Given the description of an element on the screen output the (x, y) to click on. 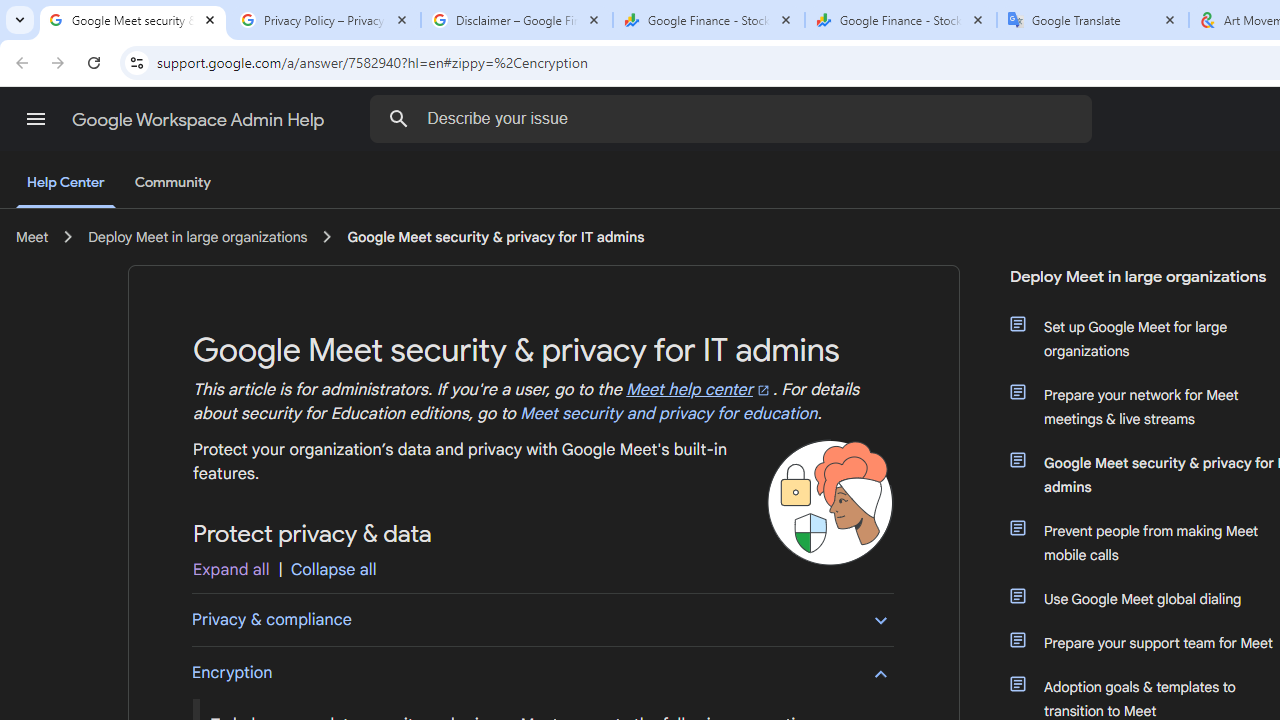
Meet help center (699, 390)
Community (171, 183)
Deploy Meet in large organizations (198, 237)
Google Translate (1093, 20)
Privacy & compliance (542, 619)
